Given the description of an element on the screen output the (x, y) to click on. 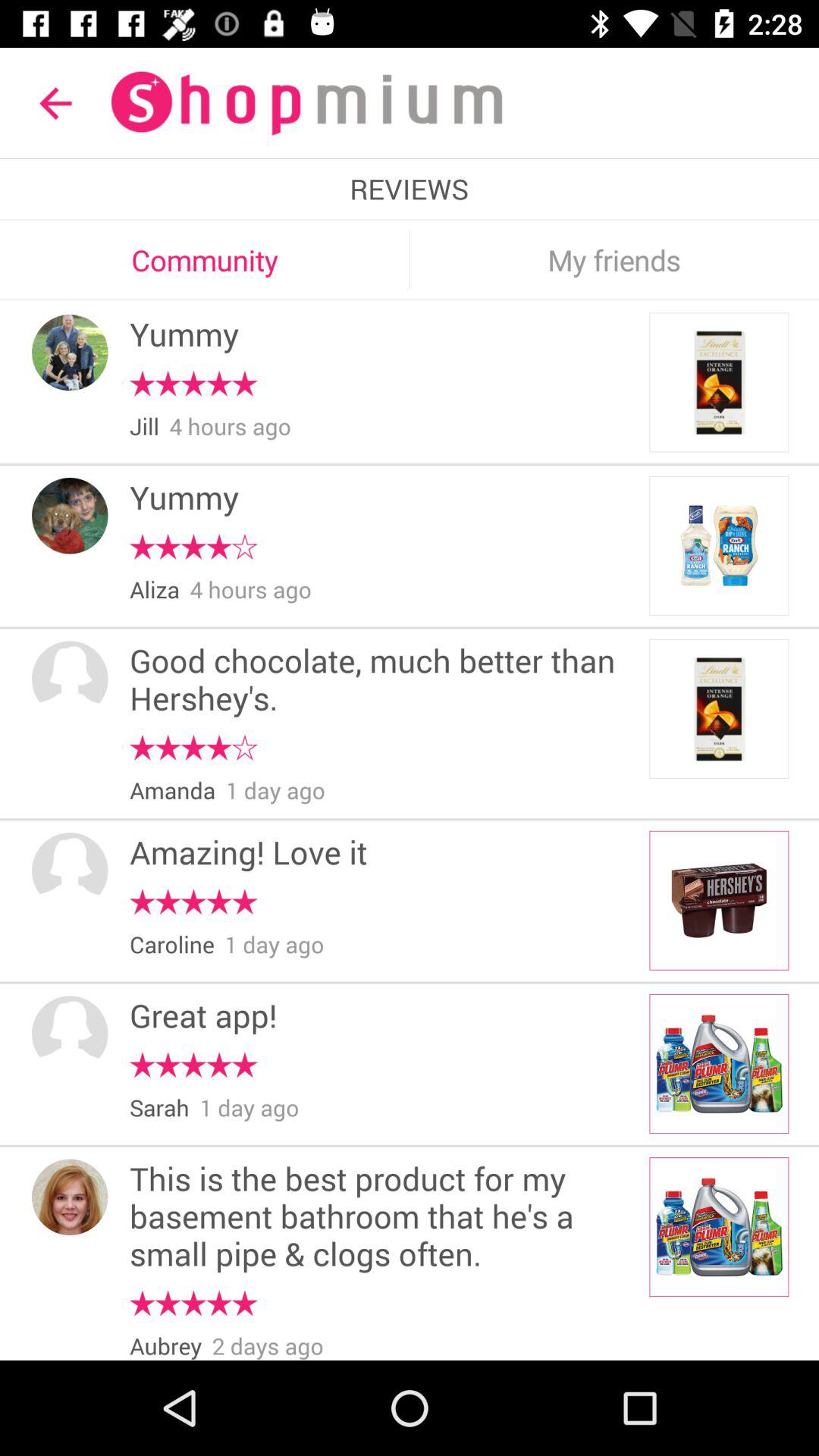
choose item to the left of the yummy icon (69, 515)
